Given the description of an element on the screen output the (x, y) to click on. 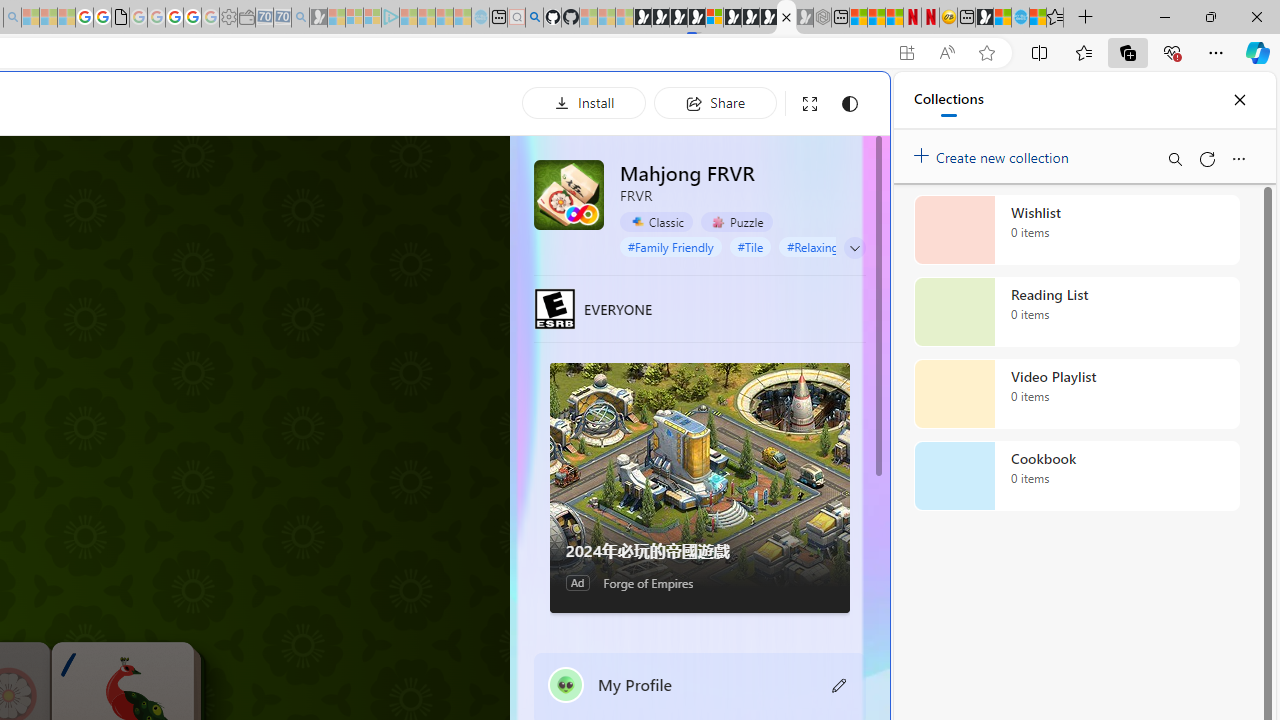
Create new collection (994, 153)
Share (715, 102)
Class: expand-arrow neutral (854, 247)
#Relaxing (813, 246)
Full screen (810, 103)
